Given the description of an element on the screen output the (x, y) to click on. 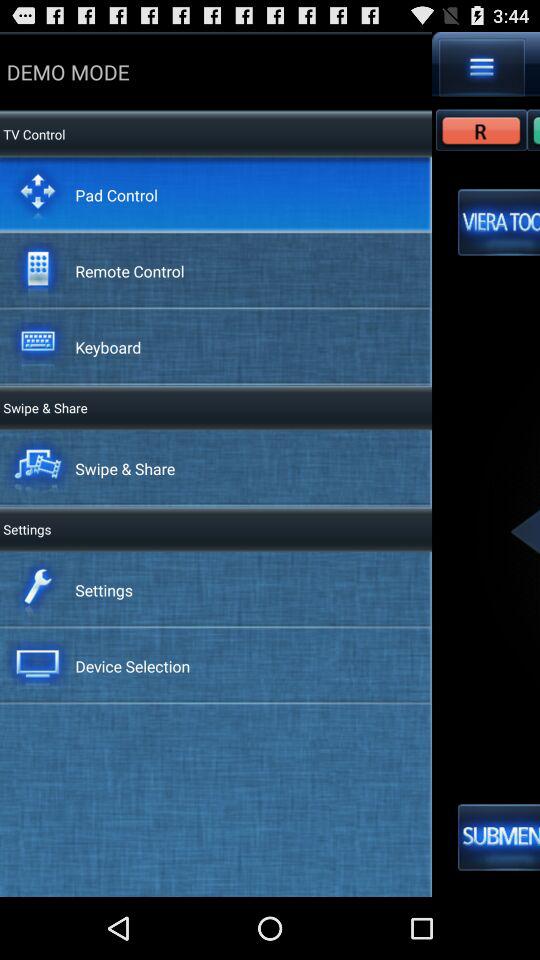
open app to the right of remote control (499, 222)
